Given the description of an element on the screen output the (x, y) to click on. 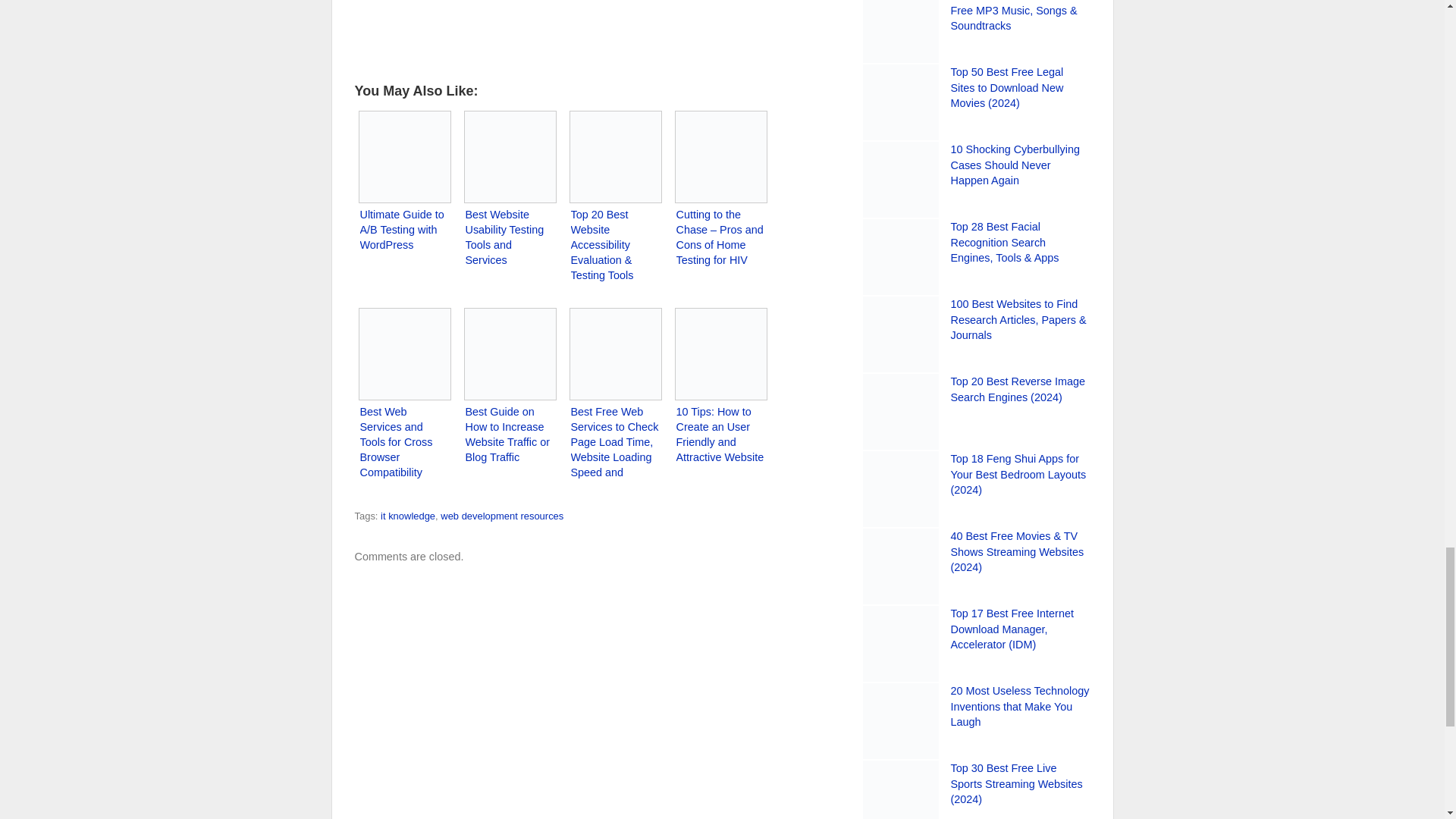
it knowledge (407, 515)
web development resources (502, 515)
